Given the description of an element on the screen output the (x, y) to click on. 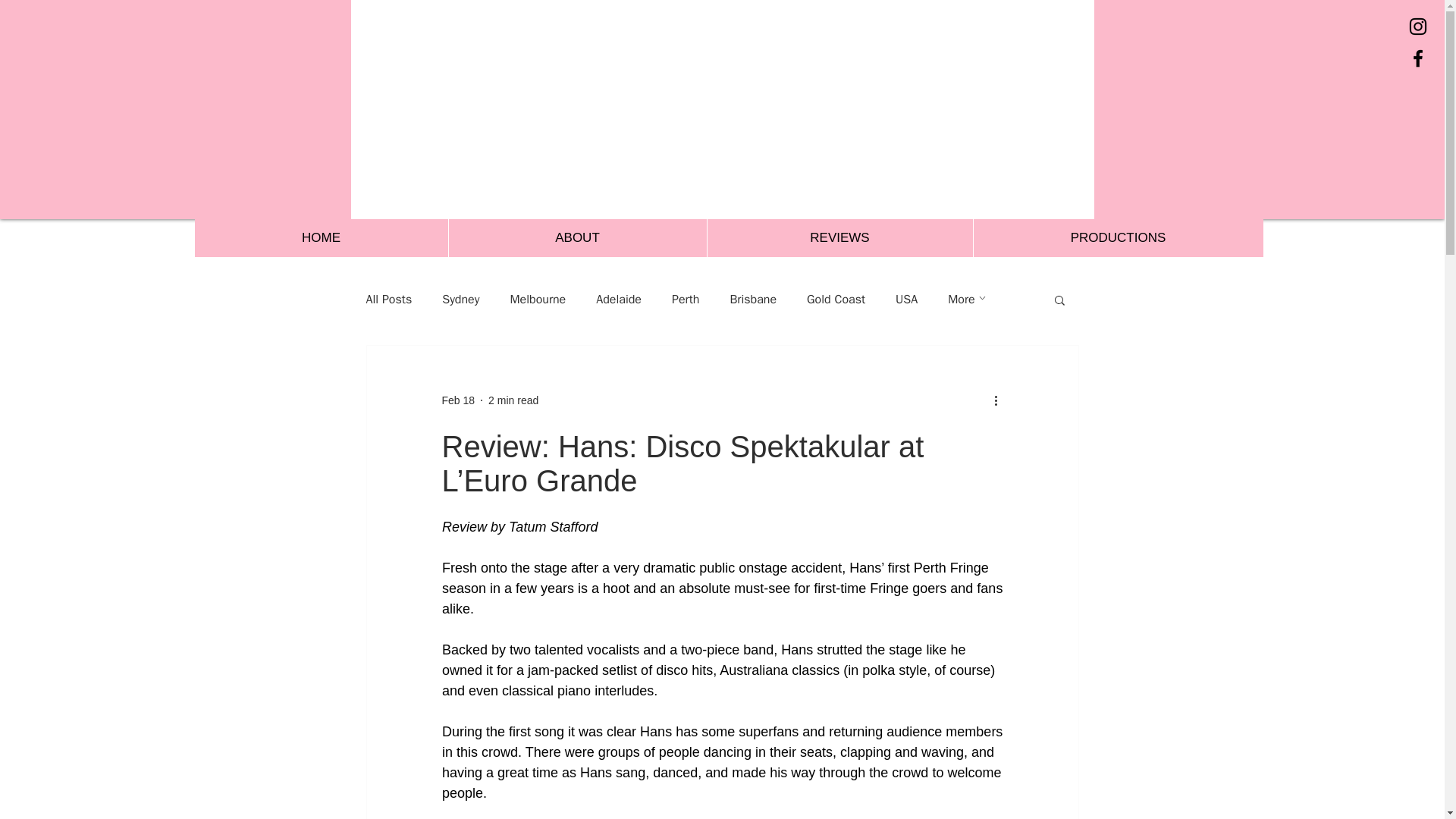
ABOUT (576, 238)
Feb 18 (457, 399)
Sydney (460, 299)
All Posts (388, 299)
2 min read (512, 399)
Melbourne (537, 299)
Gold Coast (835, 299)
Perth (684, 299)
HOME (319, 238)
USA (906, 299)
Adelaide (618, 299)
Brisbane (752, 299)
REVIEWS (839, 238)
